Given the description of an element on the screen output the (x, y) to click on. 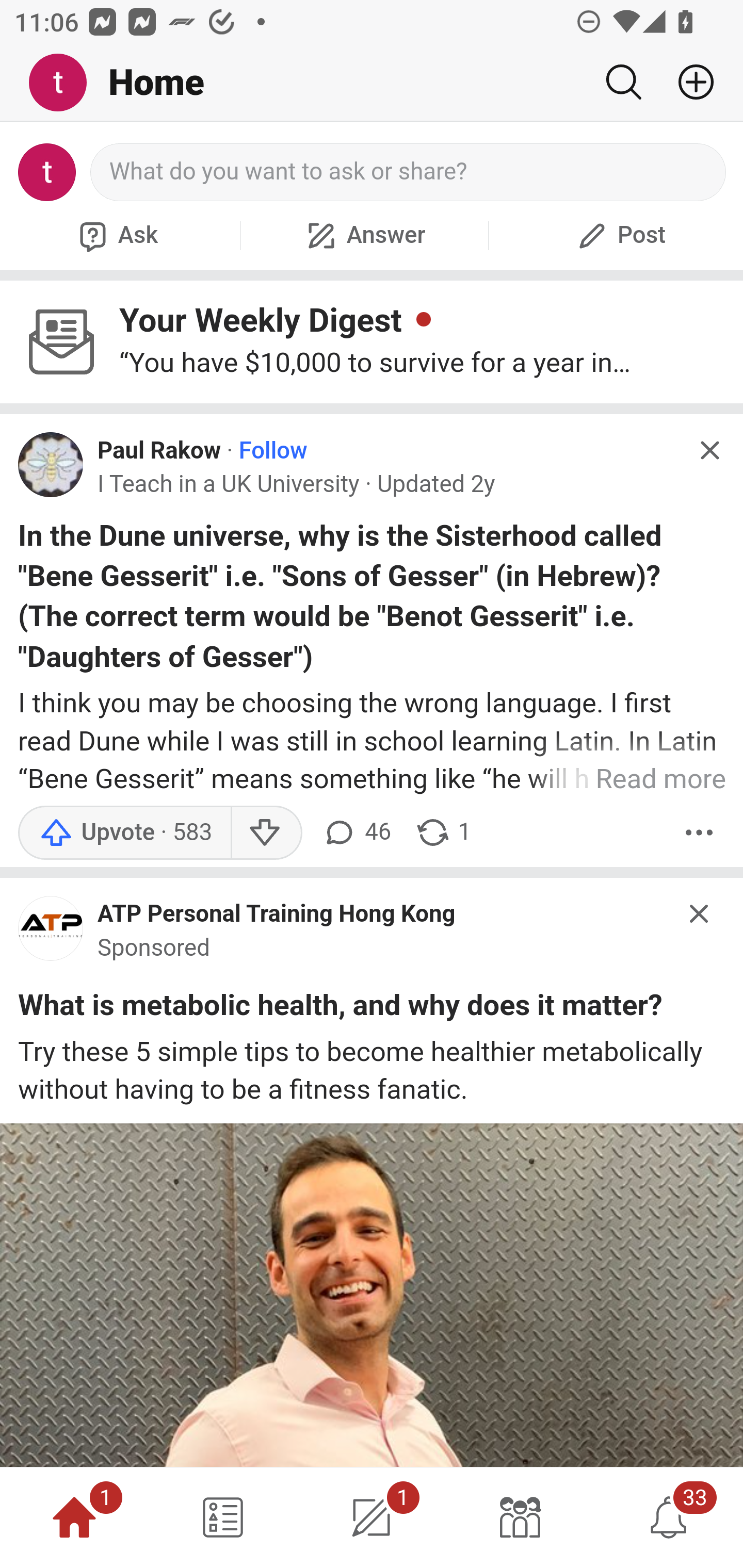
Me (64, 83)
Search (623, 82)
Add (688, 82)
What do you want to ask or share? (408, 172)
Ask (116, 234)
Answer (364, 234)
Post (618, 234)
Hide (709, 449)
Profile photo for Paul Rakow (50, 465)
Paul Rakow (159, 451)
Follow (273, 451)
Updated 2y Updated  2 y (435, 484)
Upvote (124, 831)
Downvote (266, 831)
46 comments (356, 831)
1 share (443, 831)
More (699, 831)
Hide (699, 914)
main-qimg-1f396d5a5e054ddd9a425d683de3a2f9 (50, 932)
ATP Personal Training Hong Kong (276, 914)
Sponsored (154, 947)
What is metabolic health, and why does it matter? (339, 1008)
1 (371, 1517)
33 (668, 1517)
